Given the description of an element on the screen output the (x, y) to click on. 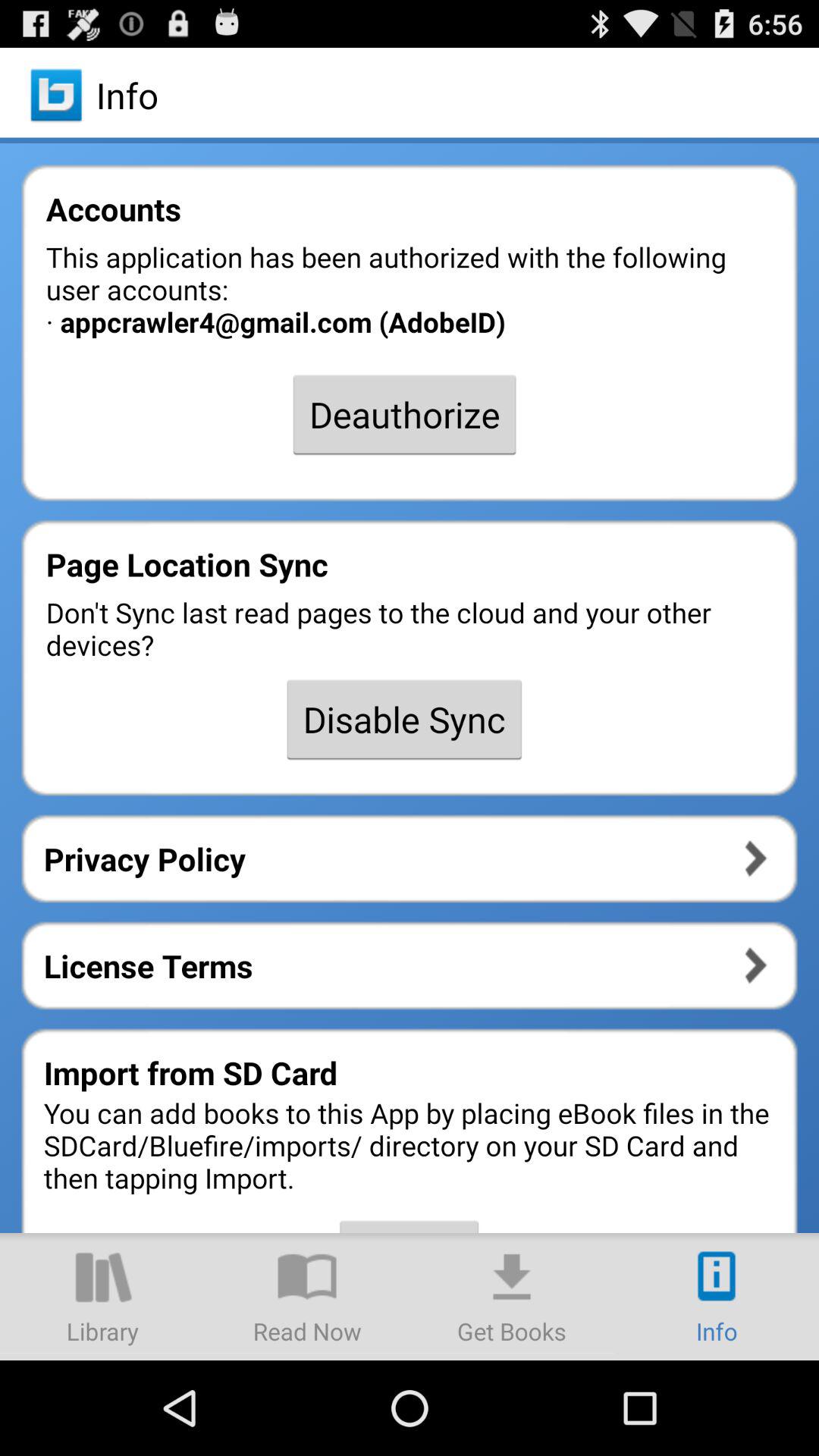
select info option (716, 1296)
